Given the description of an element on the screen output the (x, y) to click on. 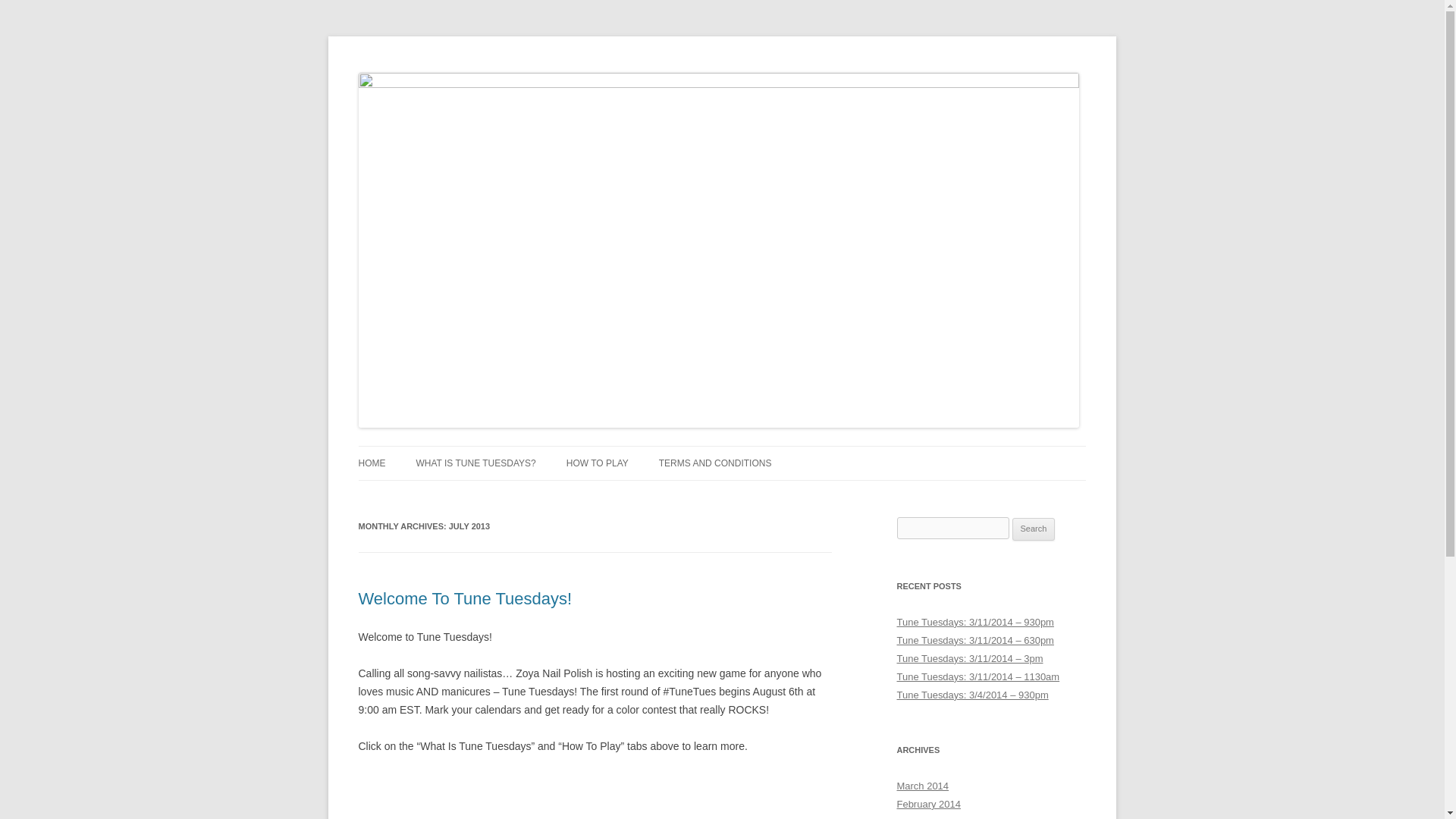
Permalink to Welcome To Tune Tuesdays! (465, 598)
Search (1033, 528)
HOME (371, 462)
Search (1033, 528)
March 2014 (922, 785)
January 2014 (926, 817)
Welcome To Tune Tuesdays! (465, 598)
March 2014 (922, 785)
WHAT IS TUNE TUESDAYS? (474, 462)
January 2014 (926, 817)
HOW TO PLAY (597, 462)
February 2014 (927, 803)
February 2014 (927, 803)
Home (371, 462)
Skip to content (757, 450)
